Given the description of an element on the screen output the (x, y) to click on. 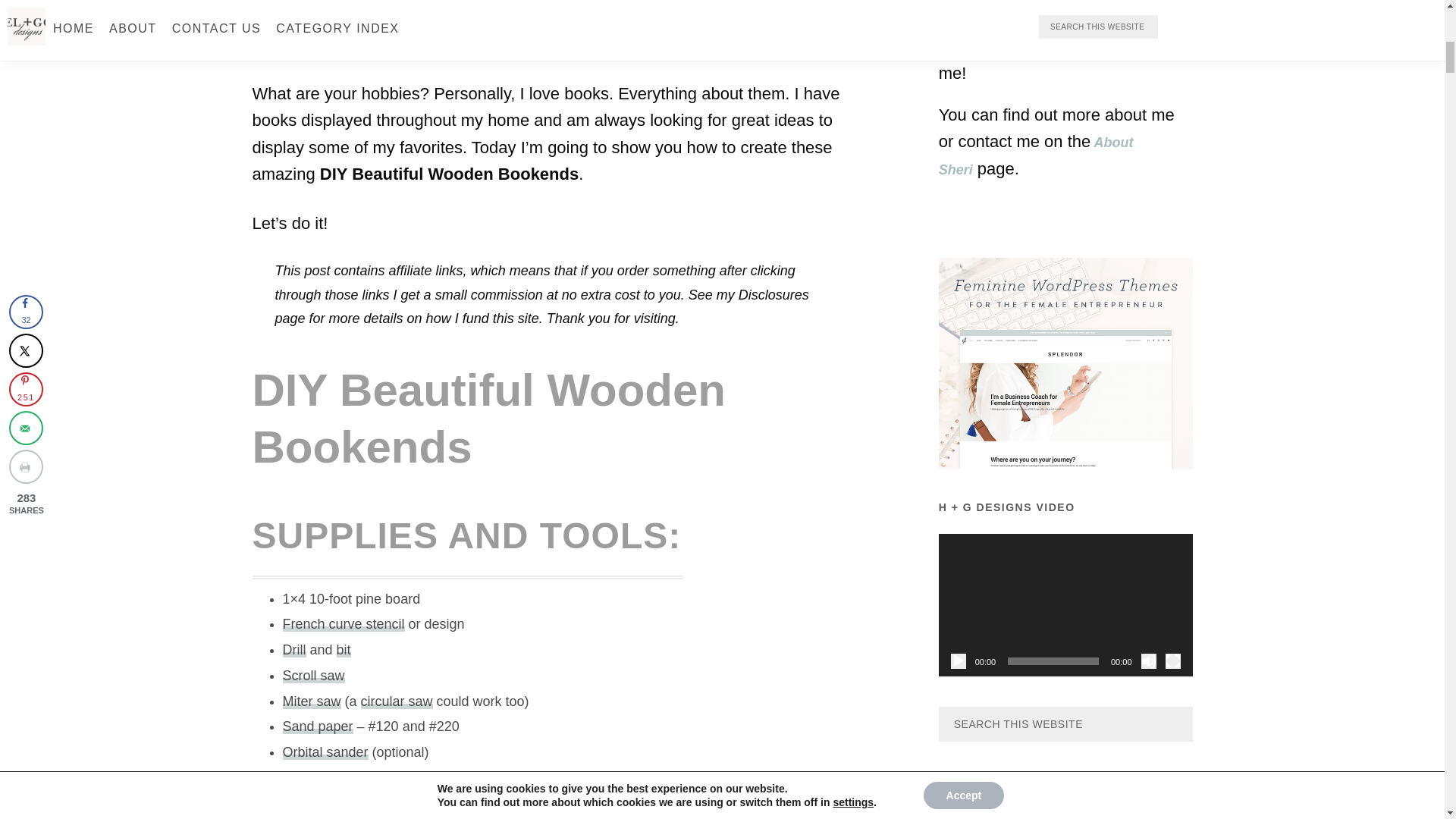
Mute (1148, 661)
Fullscreen (1171, 661)
Play (958, 661)
